Given the description of an element on the screen output the (x, y) to click on. 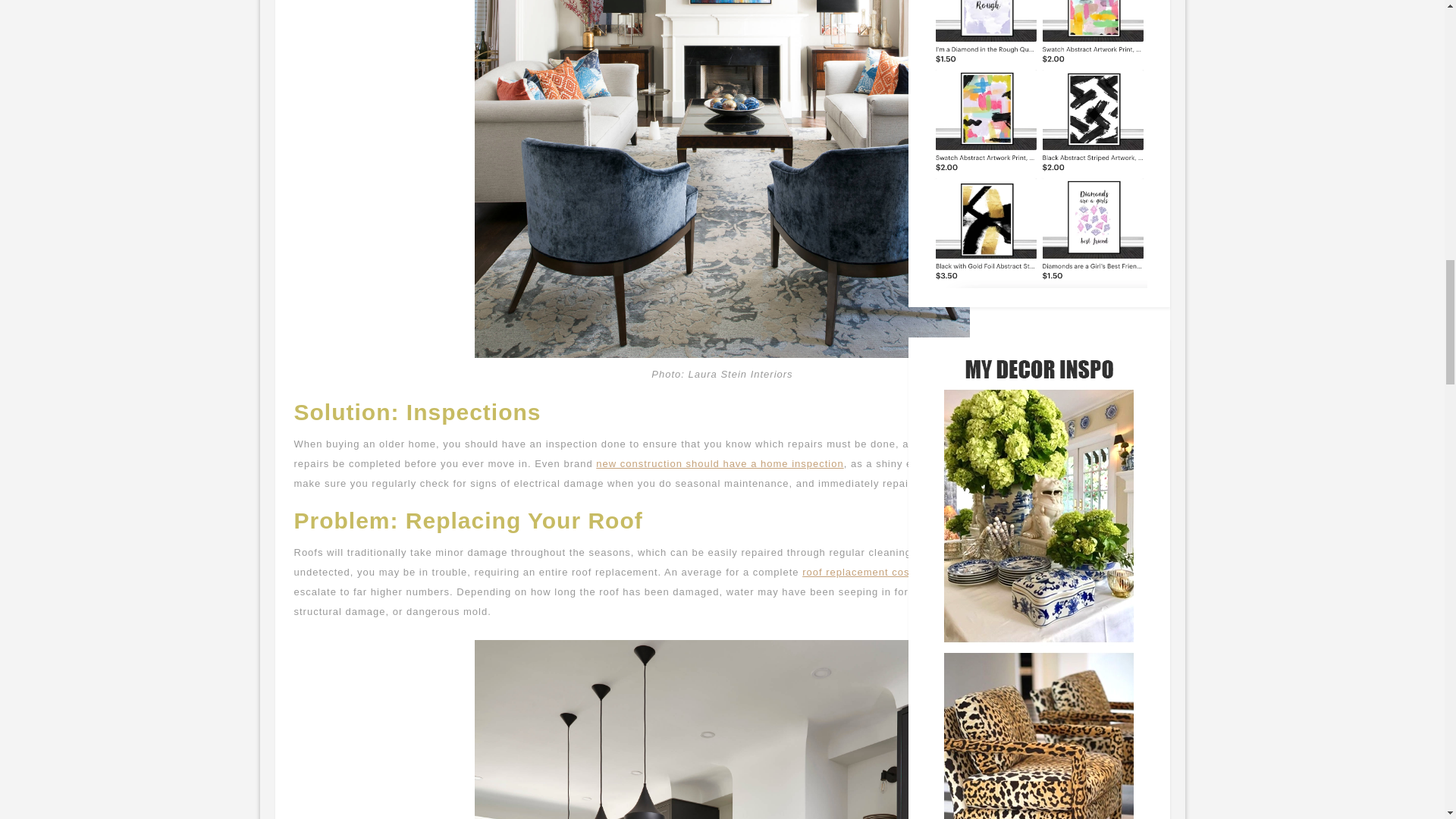
new construction should have a home inspection (719, 463)
